Given the description of an element on the screen output the (x, y) to click on. 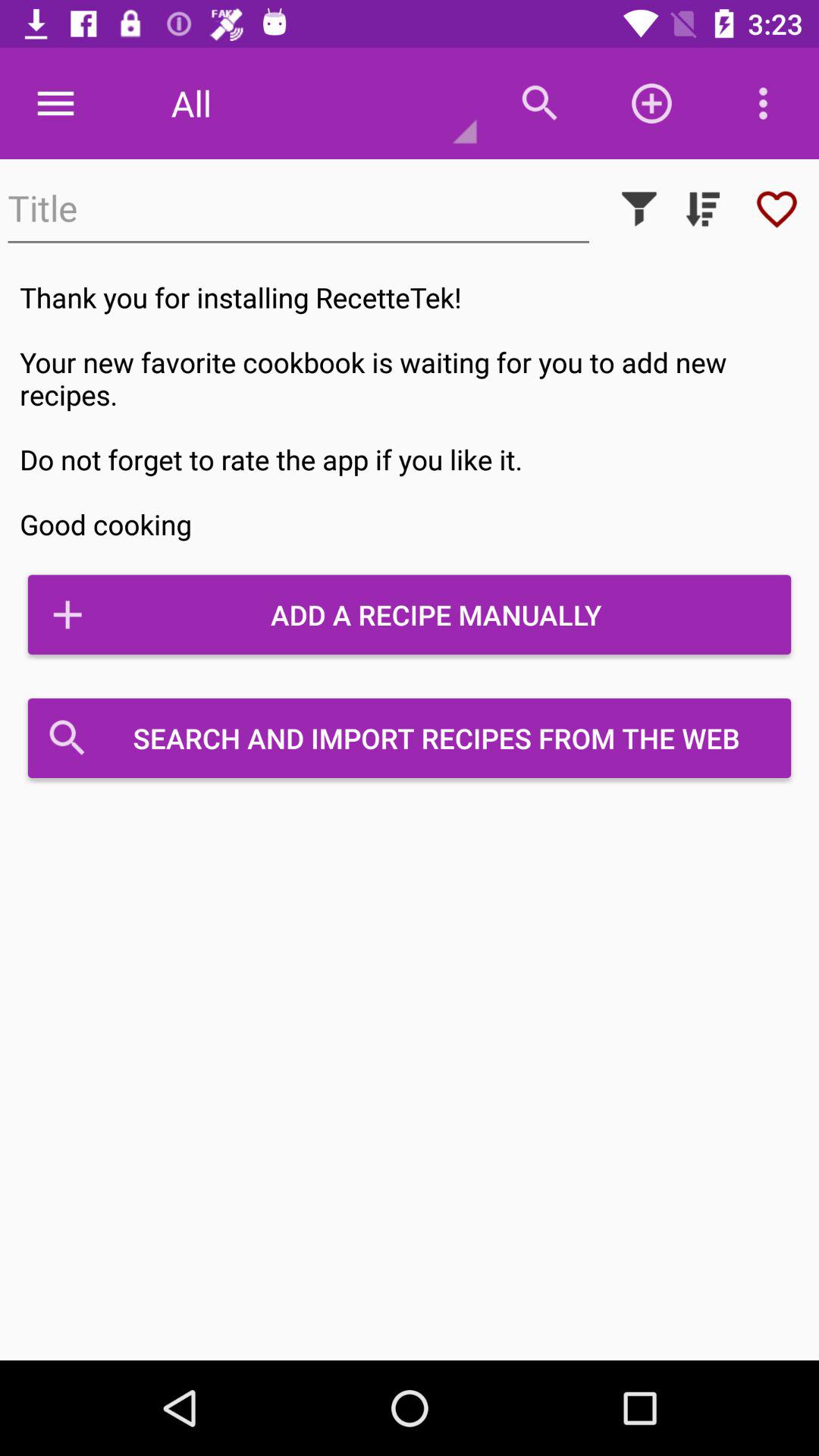
recipe list (702, 208)
